Given the description of an element on the screen output the (x, y) to click on. 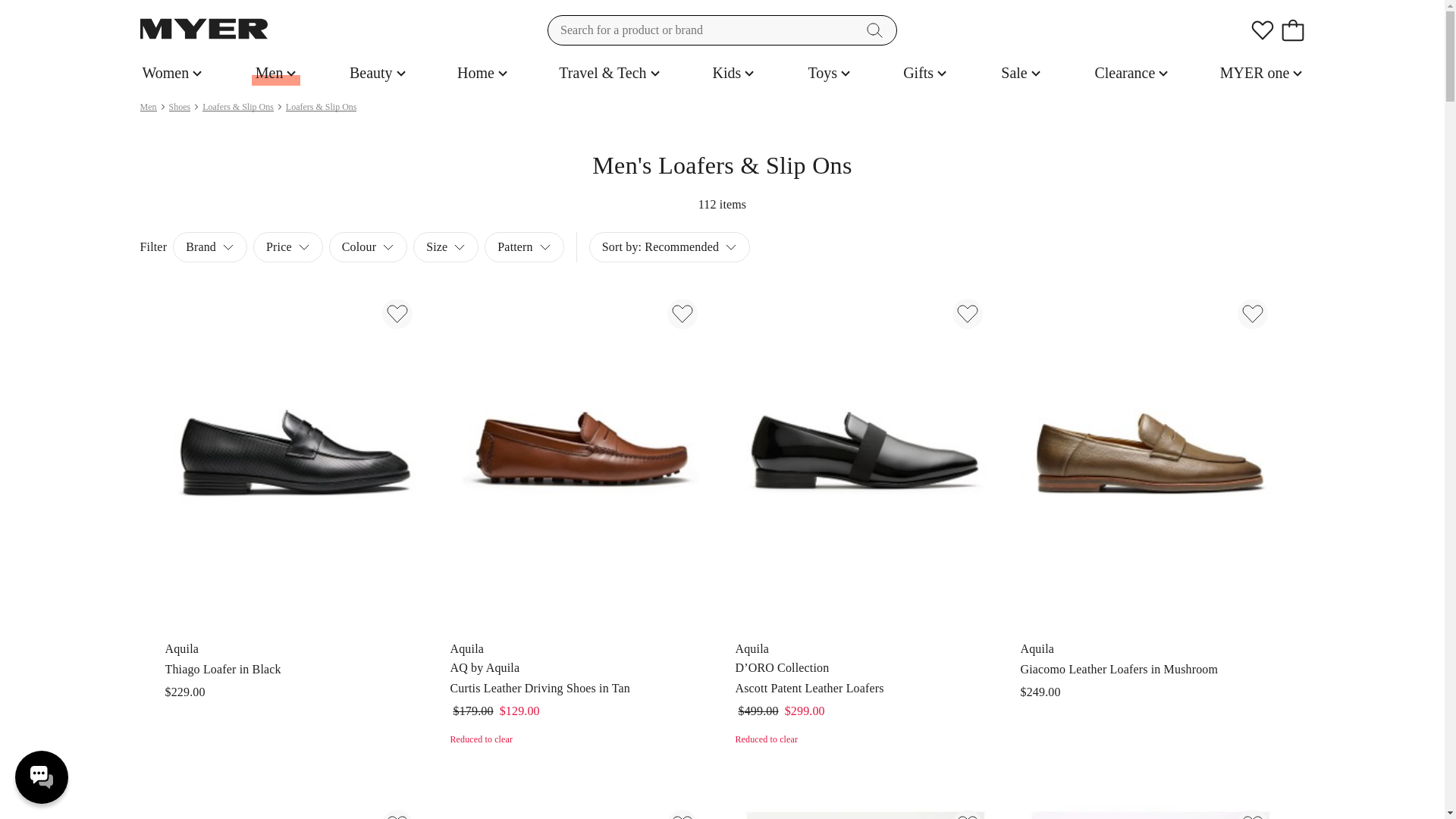
Home (481, 72)
Brand (210, 246)
Men (275, 72)
Gifts (925, 72)
Size (446, 246)
Click here to toggle the virtual assistant (41, 777)
Pattern (523, 246)
Beauty (377, 72)
Clearance (669, 246)
Sale (1131, 72)
Price (1020, 72)
Colour (288, 246)
MYER one (368, 246)
Toys (1260, 72)
